Given the description of an element on the screen output the (x, y) to click on. 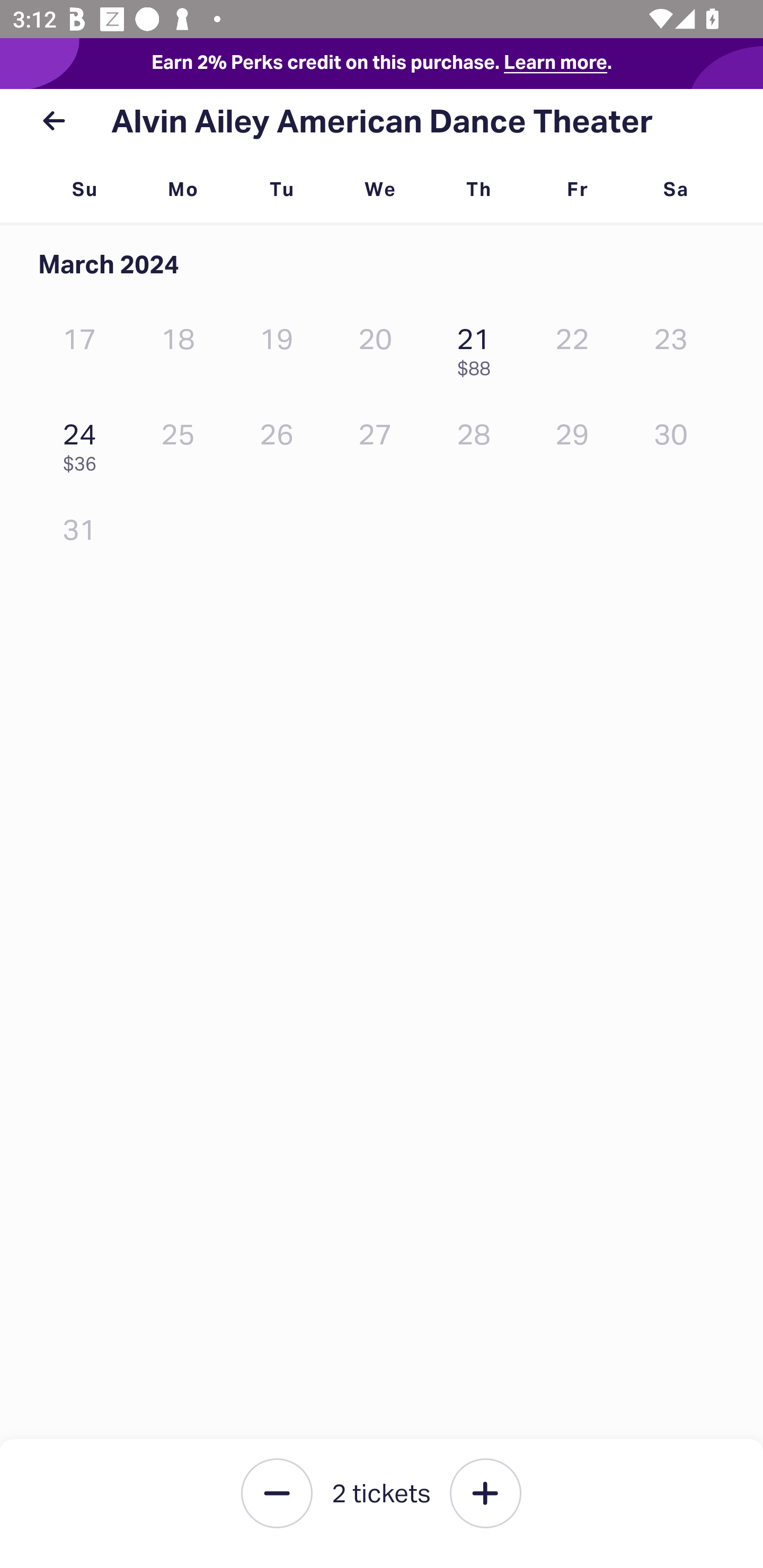
Earn 2% Perks credit on this purchase. Learn more. (381, 63)
back button (53, 120)
21 $88 (478, 347)
24 $36 (84, 442)
